Given the description of an element on the screen output the (x, y) to click on. 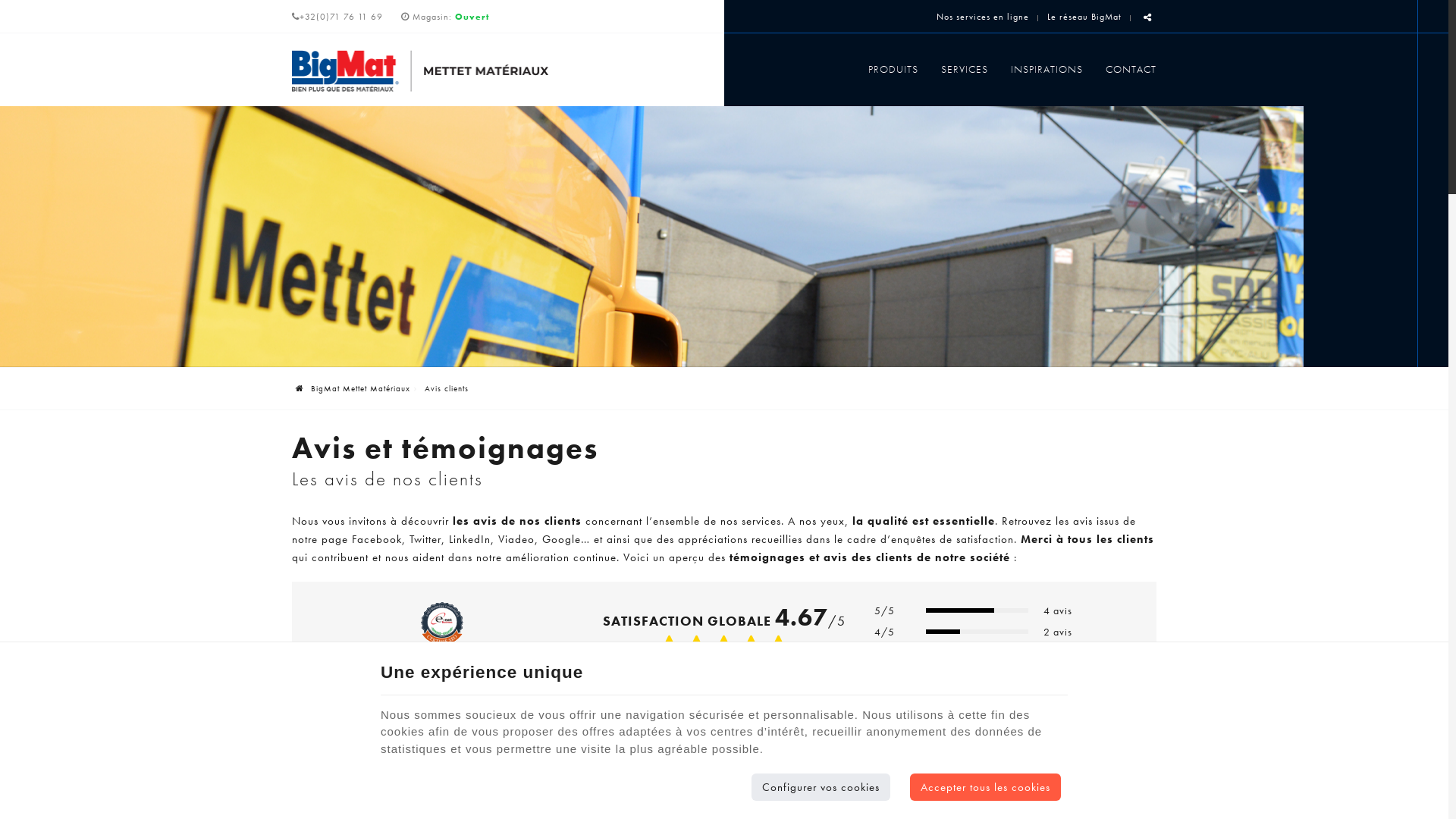
Nos services en ligne Element type: text (982, 16)
INSPIRATIONS Element type: text (1046, 68)
Satisfait Element type: hover (723, 648)
Magasin:
Ouvert Element type: text (450, 16)
Configurer vos cookies Element type: text (820, 786)
+32(0)71 76 11 69 Element type: text (336, 16)
CONTACT Element type: text (1125, 68)
Accepter tous les cookies Element type: text (985, 786)
Pas du tout satisfait Element type: hover (668, 648)
Pas satisfait Element type: hover (696, 648)
Recommandez-nous Element type: text (723, 784)
PRODUITS Element type: text (892, 68)
Partager ce contenu Element type: text (1147, 17)
SERVICES Element type: text (964, 68)
